Given the description of an element on the screen output the (x, y) to click on. 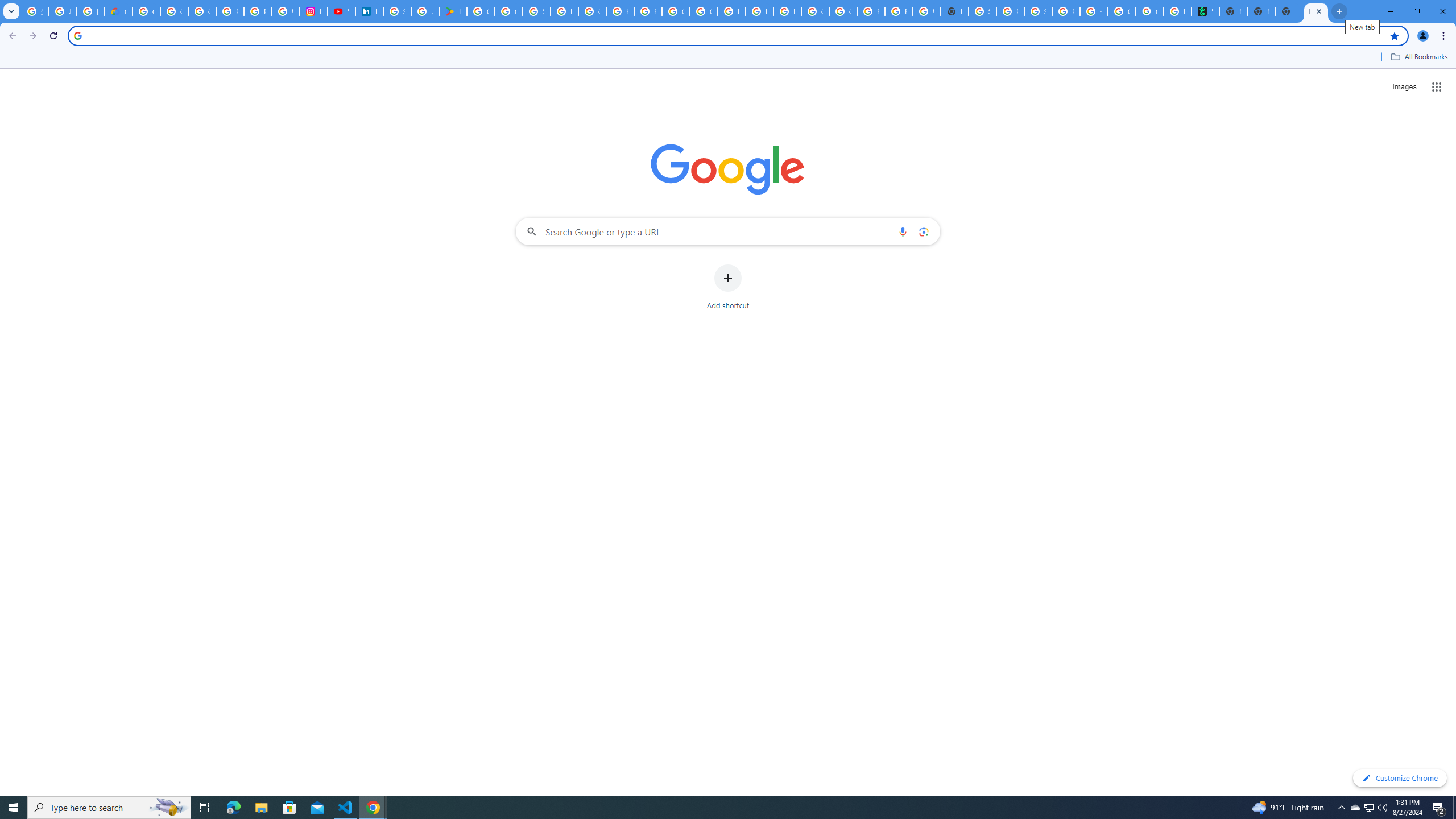
All Bookmarks (1418, 56)
Browse Chrome as a guest - Computer - Google Chrome Help (731, 11)
New Tab (1260, 11)
Privacy Help Center - Policies Help (257, 11)
Search by voice (902, 230)
